Given the description of an element on the screen output the (x, y) to click on. 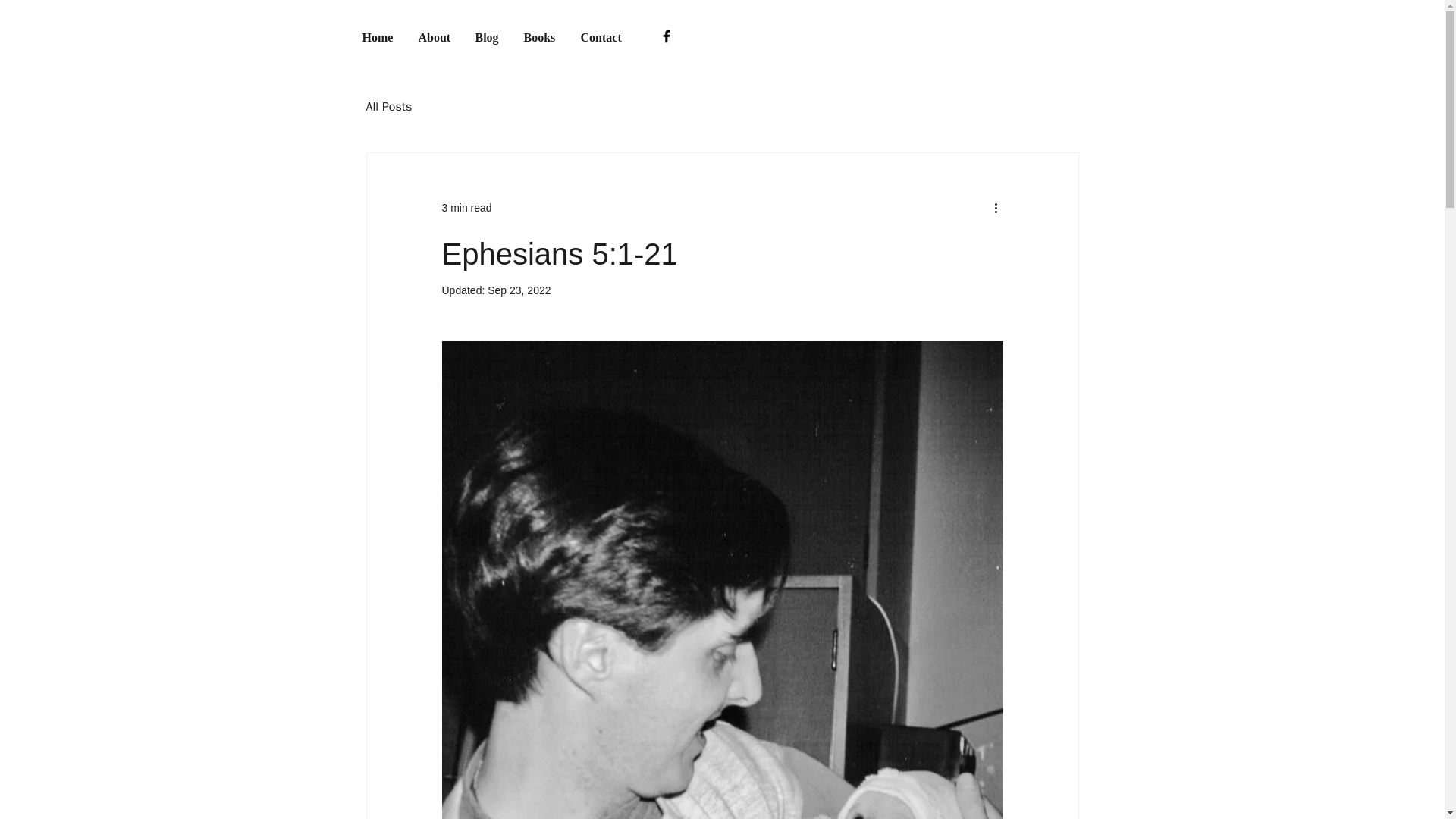
Contact (601, 36)
3 min read (466, 207)
Home (378, 36)
Books (540, 36)
Blog (488, 36)
About (434, 36)
Sep 23, 2022 (518, 290)
All Posts (388, 106)
